Given the description of an element on the screen output the (x, y) to click on. 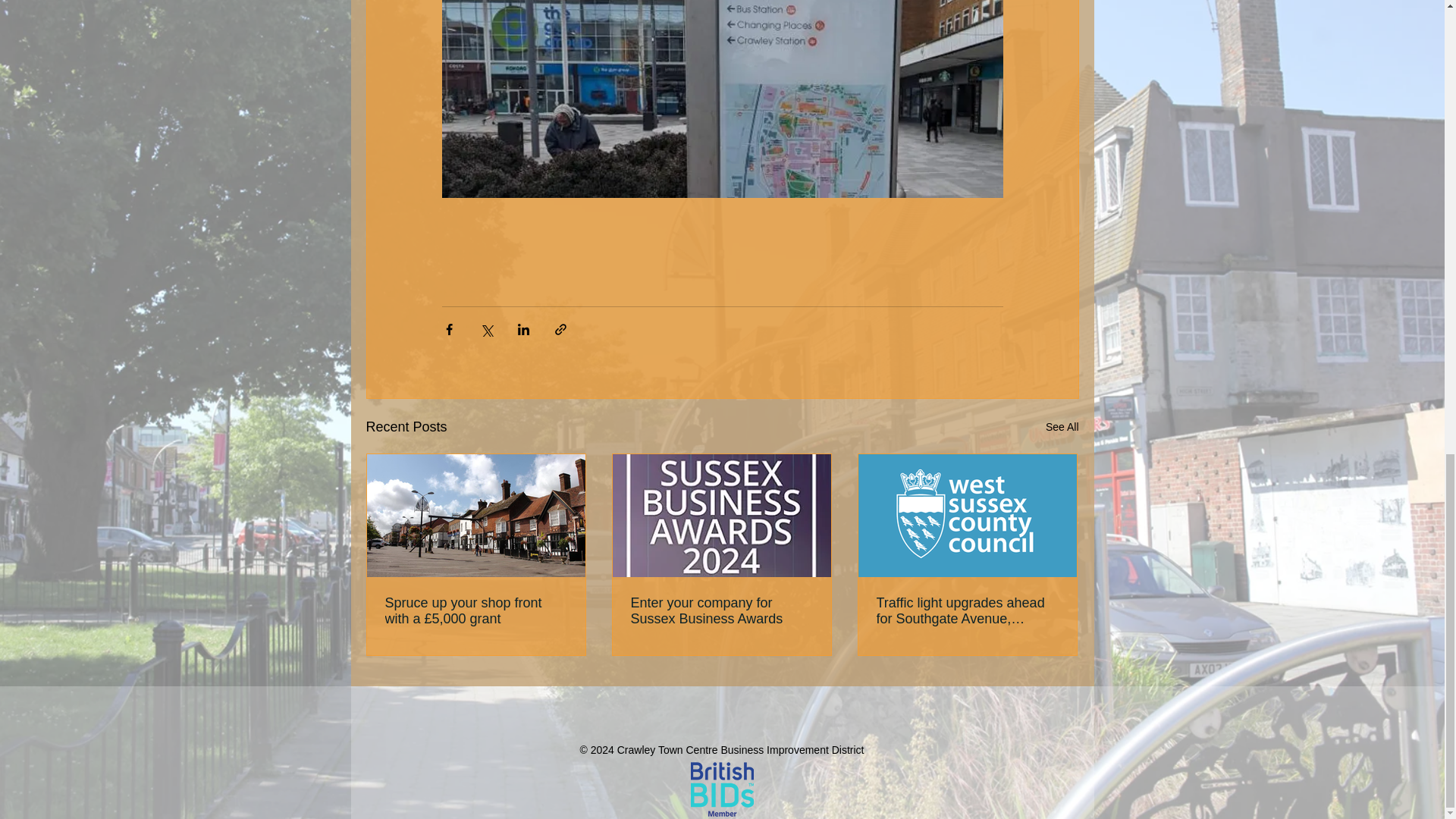
Enter your company for Sussex Business Awards (721, 611)
Traffic light upgrades ahead for Southgate Avenue, Crawley (967, 611)
See All (1061, 427)
